Given the description of an element on the screen output the (x, y) to click on. 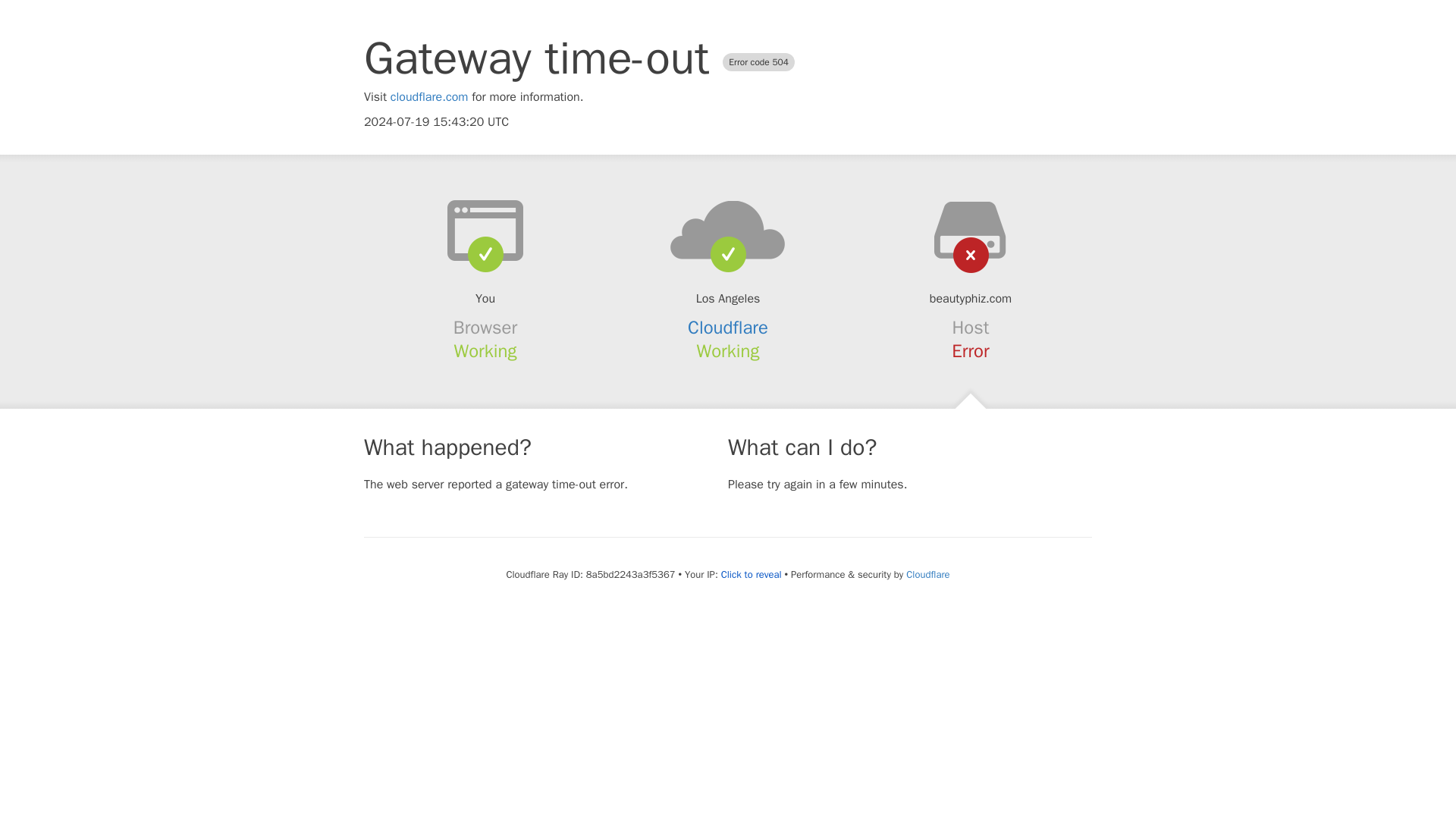
Cloudflare (727, 327)
cloudflare.com (429, 96)
Cloudflare (927, 574)
Click to reveal (750, 574)
